Given the description of an element on the screen output the (x, y) to click on. 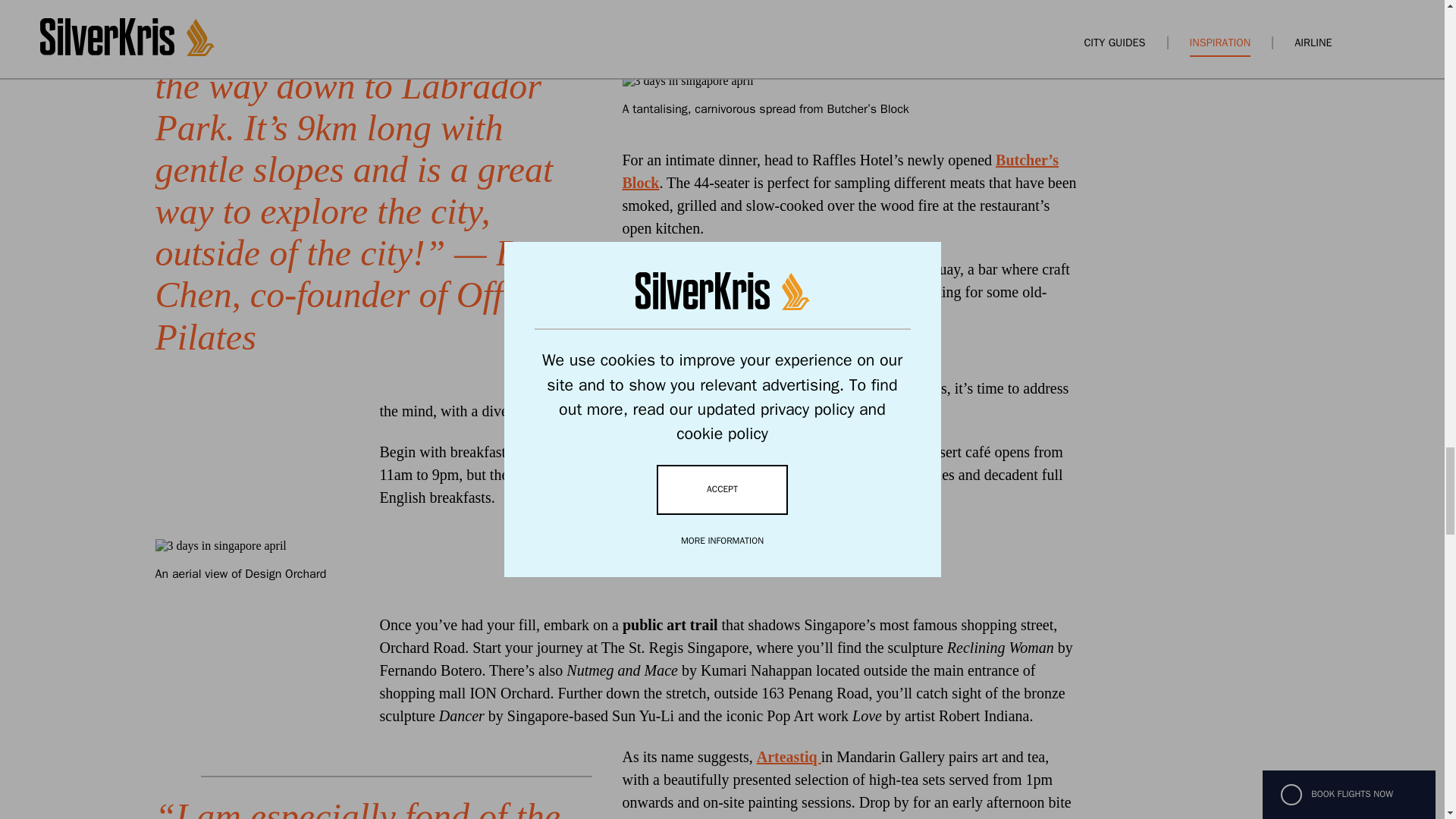
PONG Singapore (808, 269)
Arteastiq (789, 756)
Cafe de Muse (671, 451)
Fullerton Spa (665, 32)
